Given the description of an element on the screen output the (x, y) to click on. 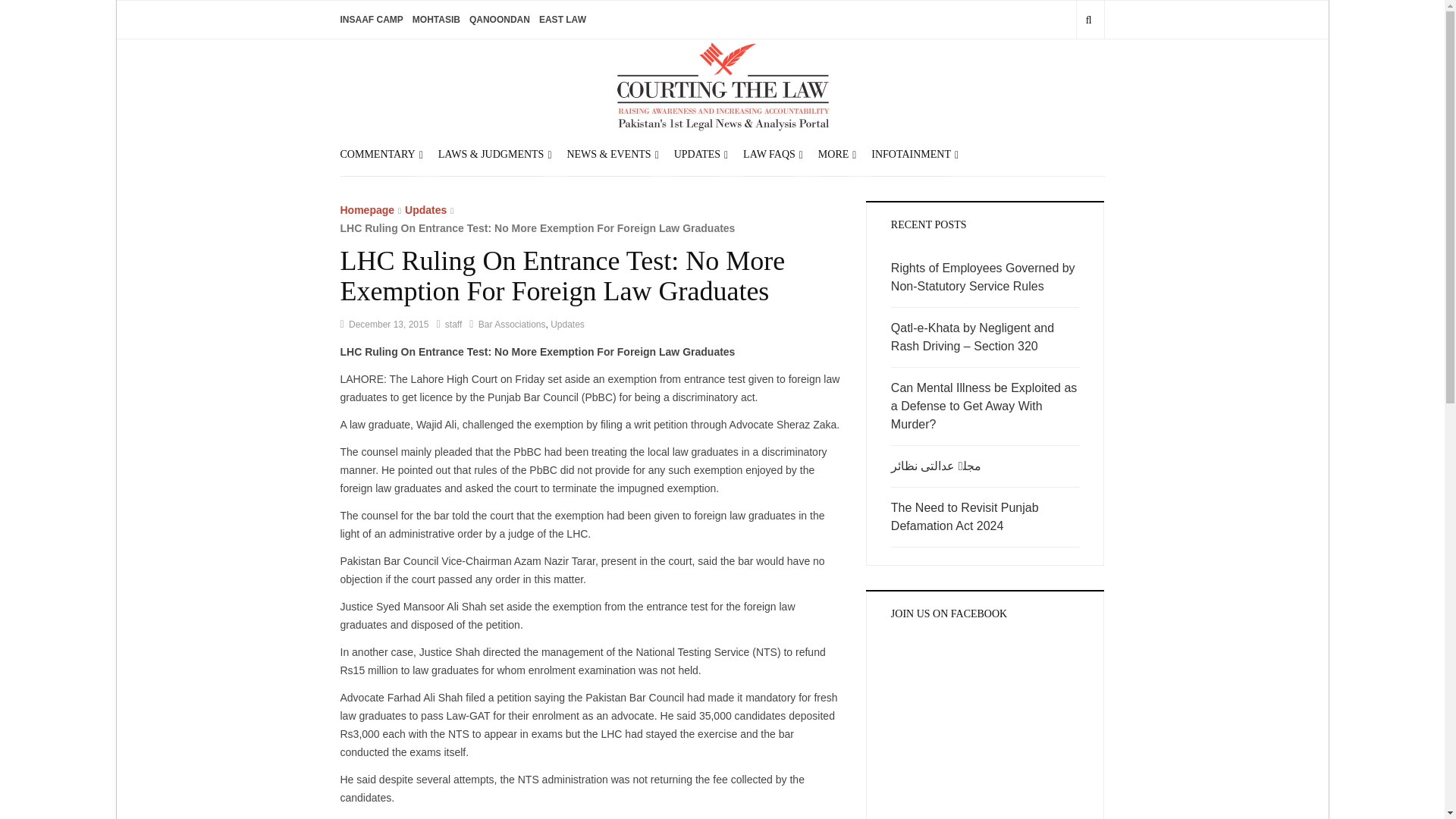
COMMENTARY (376, 153)
LAW FAQS (768, 153)
UPDATES (697, 153)
QANOONDAN (498, 19)
MOHTASIB (436, 19)
EAST LAW (562, 19)
Homepage (366, 209)
INSAAF CAMP (371, 19)
